Given the description of an element on the screen output the (x, y) to click on. 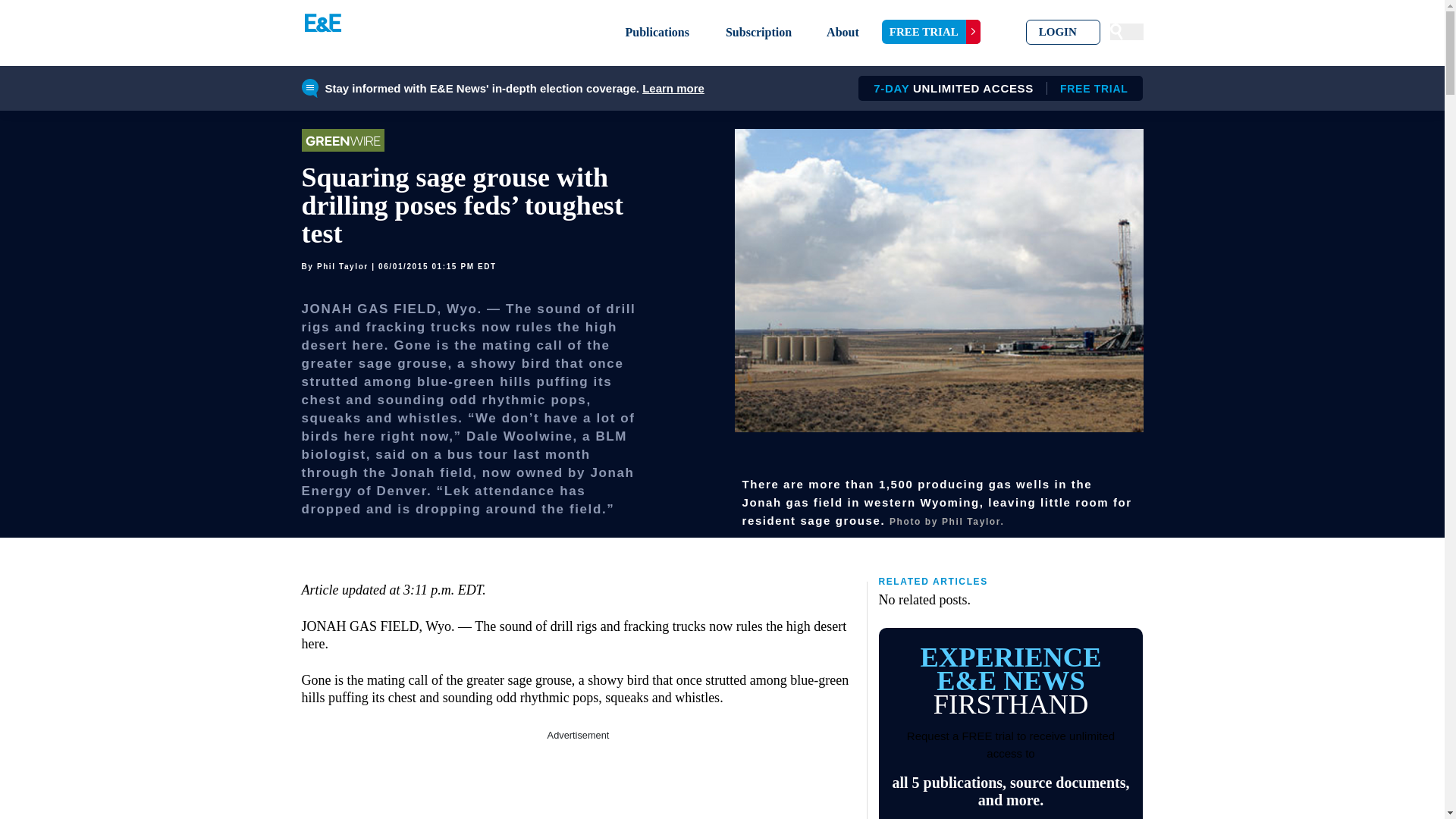
LOGIN (1063, 32)
Learn more (994, 88)
Publications (673, 88)
3rd party ad content (656, 32)
FREE TRIAL (577, 780)
About (930, 31)
Subscription (843, 32)
Skip to primary navigation (758, 32)
